Given the description of an element on the screen output the (x, y) to click on. 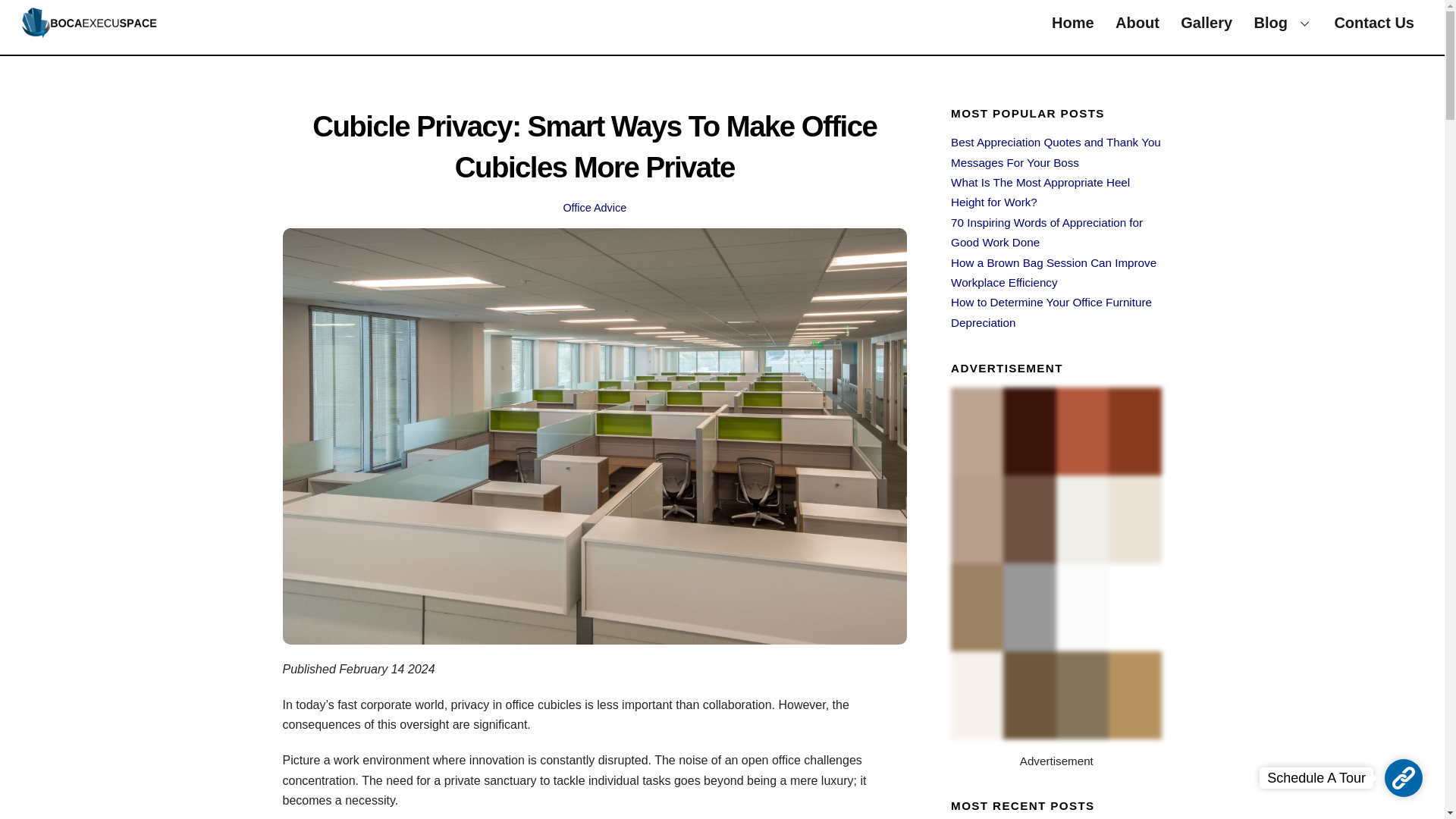
Contact Us (722, 22)
What Is The Most Appropriate Heel Height for Work? (1373, 22)
Blog (1039, 192)
BocaExecuSpace (1283, 22)
Home (89, 33)
70 Inspiring Words of Appreciation for Good Work Done (1072, 22)
About (1046, 232)
How to Determine Your Office Furniture Depreciation (1137, 22)
Office Advice (1050, 311)
Gallery (594, 207)
How a Brown Bag Session Can Improve Workplace Efficiency (1206, 22)
